Given the description of an element on the screen output the (x, y) to click on. 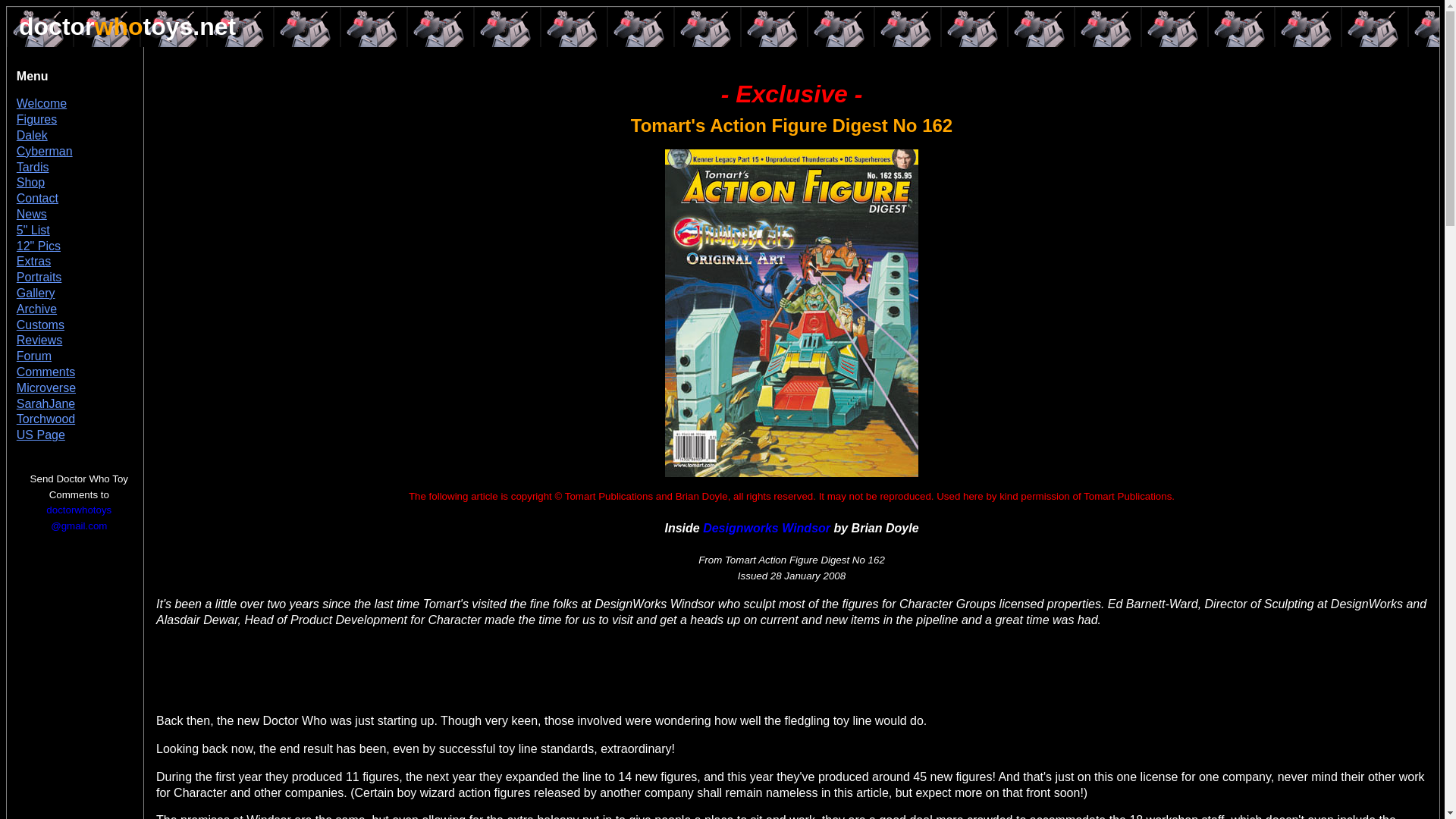
Shop (30, 182)
Archive (36, 308)
SarahJane (45, 403)
Portraits (39, 277)
Advertisement (333, 662)
12" Pics (38, 245)
Tardis (32, 166)
Forum (33, 355)
Dalek (32, 134)
Cyberman (44, 151)
Comments (45, 371)
Extras (33, 260)
Microverse (45, 387)
US Page (40, 434)
Reviews (39, 339)
